Given the description of an element on the screen output the (x, y) to click on. 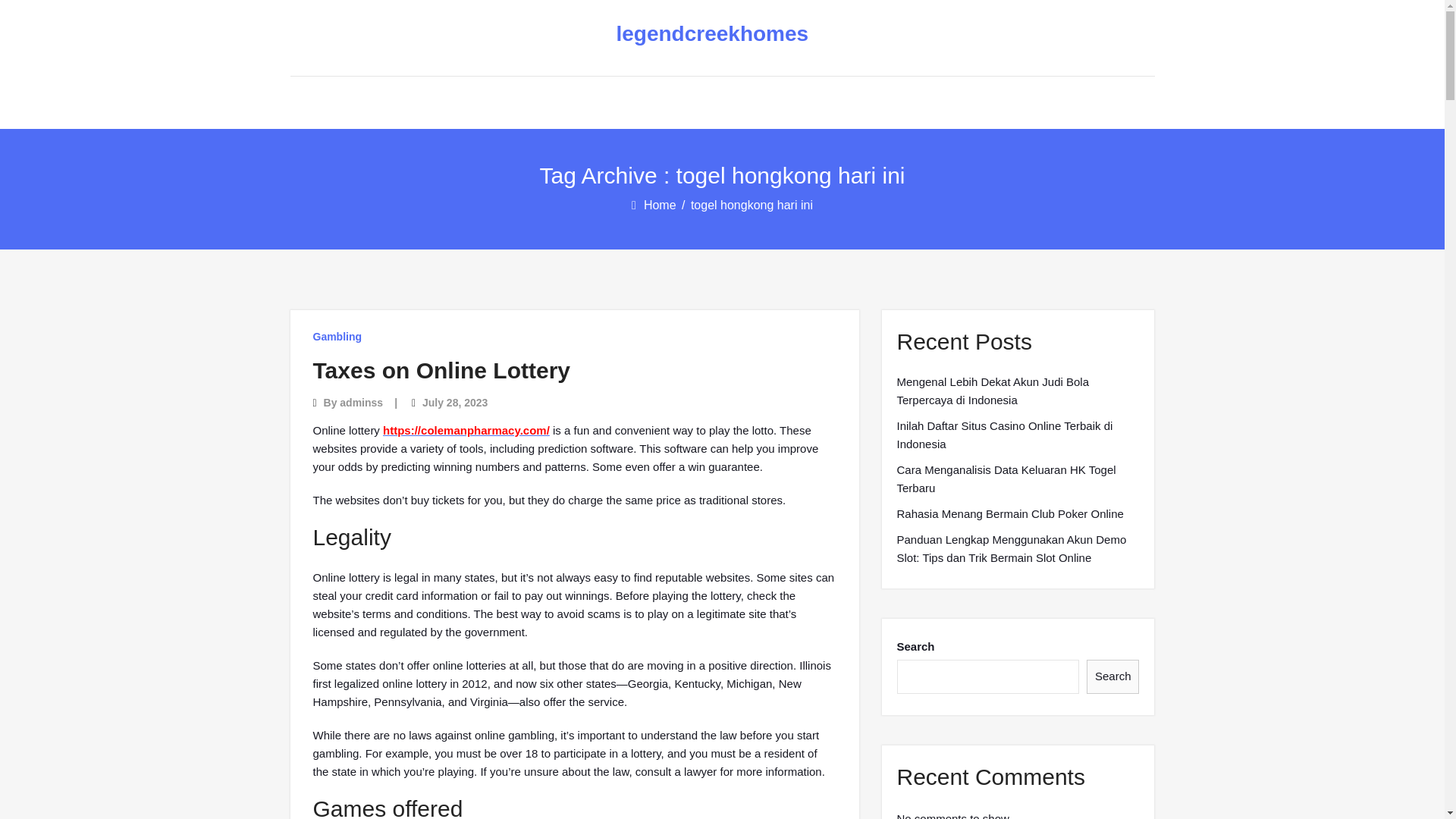
Home (660, 205)
Mengenal Lebih Dekat Akun Judi Bola Terpercaya di Indonesia (1017, 391)
legendcreekhomes (710, 34)
adminss (360, 402)
Rahasia Menang Bermain Club Poker Online (1009, 514)
Taxes on Online Lottery (441, 370)
Search (1113, 676)
Inilah Daftar Situs Casino Online Terbaik di Indonesia (1017, 434)
Gambling (337, 336)
July 28, 2023 (454, 402)
Cara Menganalisis Data Keluaran HK Togel Terbaru (1017, 479)
